Given the description of an element on the screen output the (x, y) to click on. 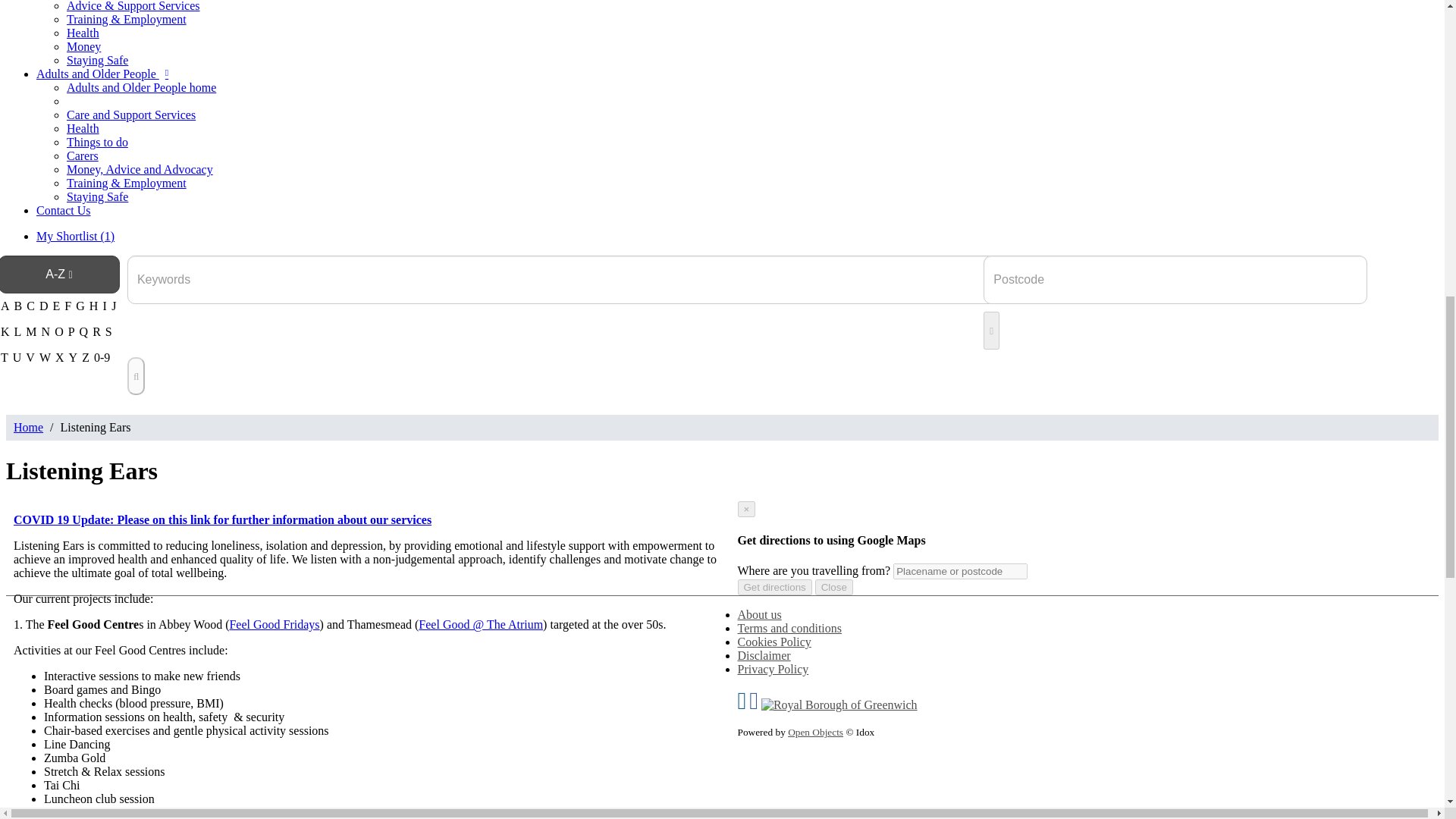
Money (83, 46)
Toggle A to Z of Services (59, 274)
Health (82, 32)
